Given the description of an element on the screen output the (x, y) to click on. 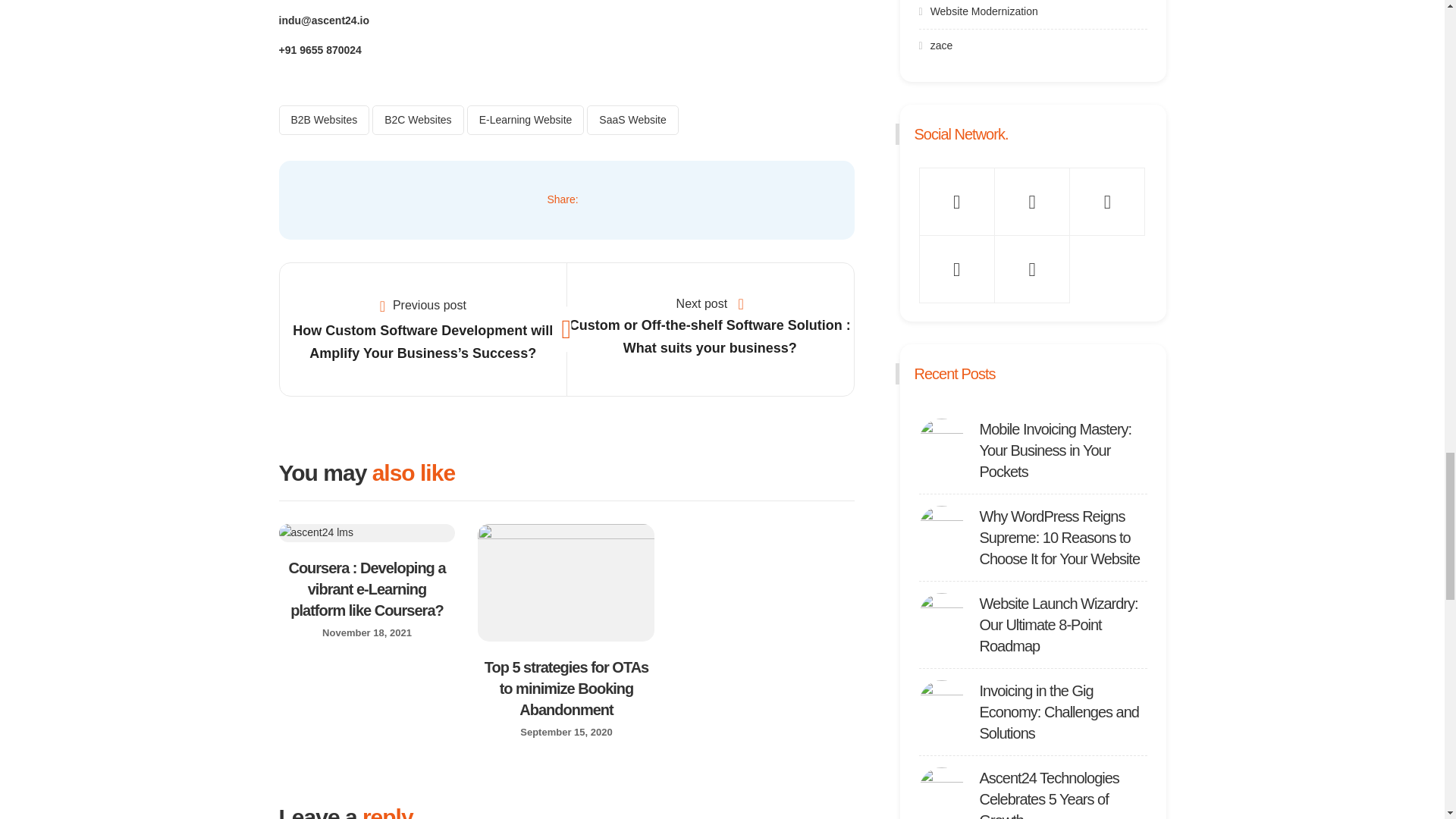
B2B Websites (324, 120)
Top 5 strategies for OTAs to minimize Booking Abandonment (566, 688)
E-Learning Website (526, 120)
B2C Websites (417, 120)
SaaS Website (632, 120)
